Given the description of an element on the screen output the (x, y) to click on. 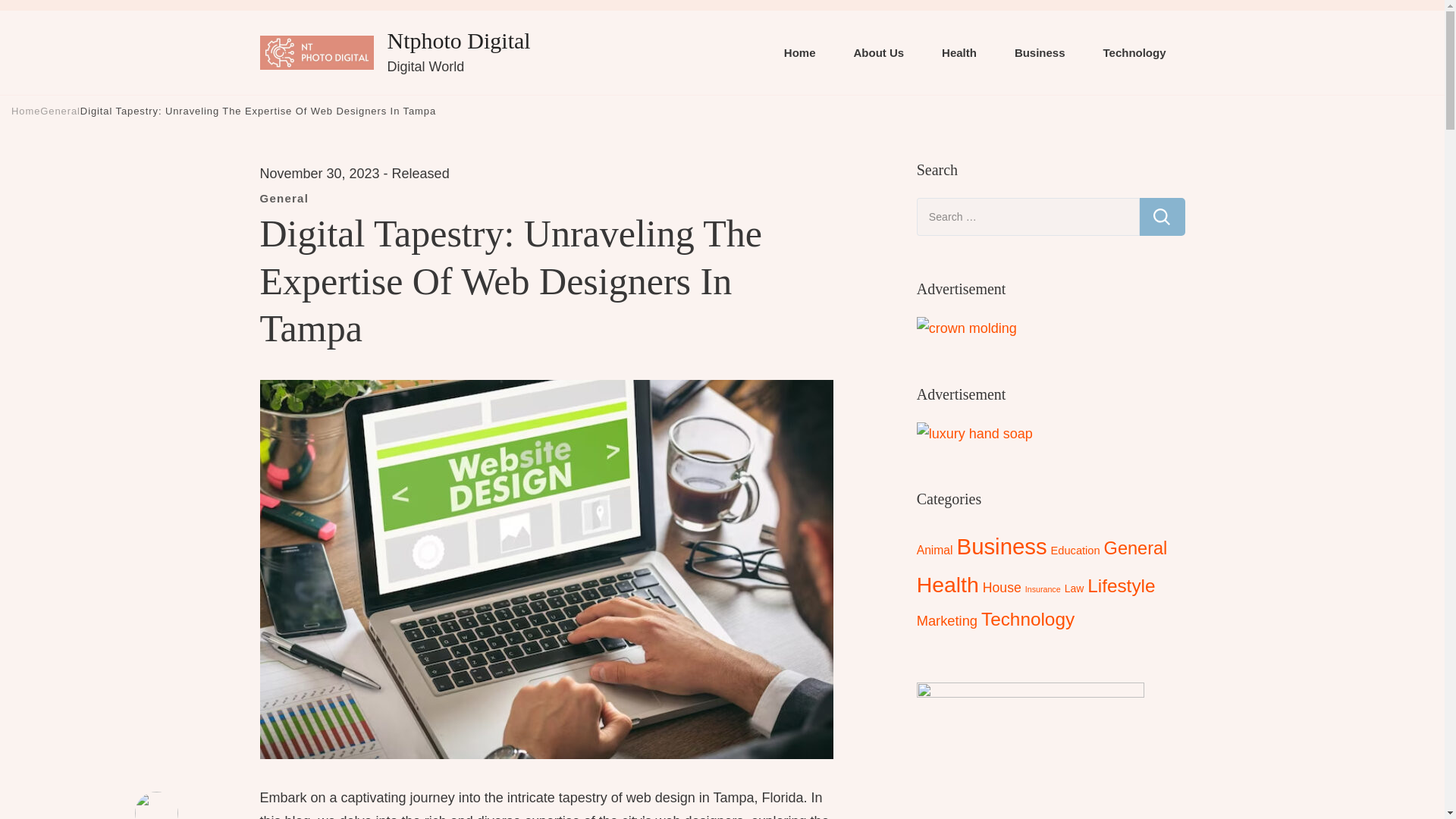
General (60, 110)
Health (959, 53)
Home (799, 53)
Search (1161, 216)
Advertisement (966, 328)
Home (25, 110)
Ntphoto Digital (458, 40)
Business (1039, 53)
Search (1161, 216)
Technology (1134, 53)
General (283, 197)
About Us (878, 53)
